Given the description of an element on the screen output the (x, y) to click on. 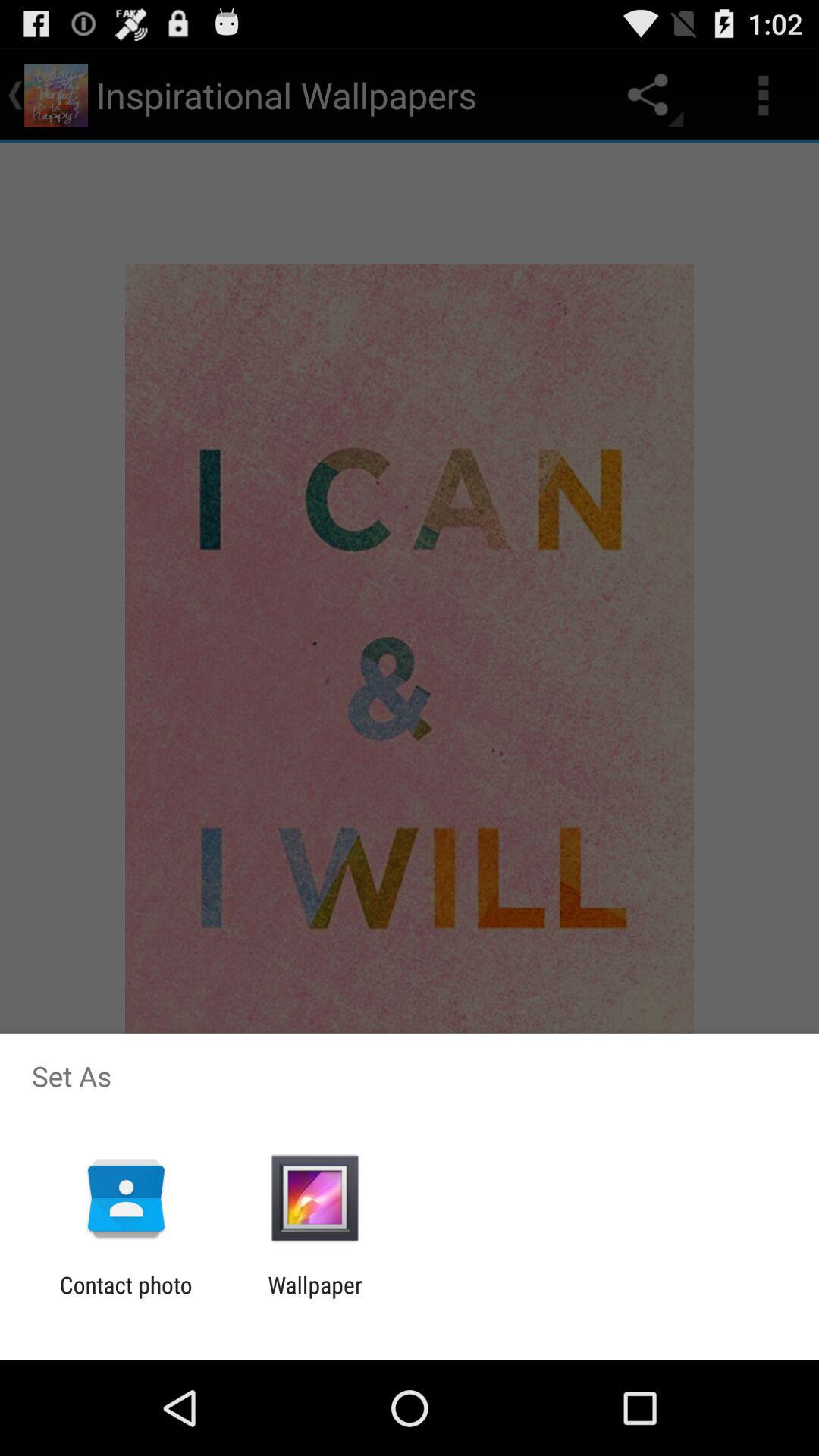
flip to the wallpaper app (314, 1298)
